Given the description of an element on the screen output the (x, y) to click on. 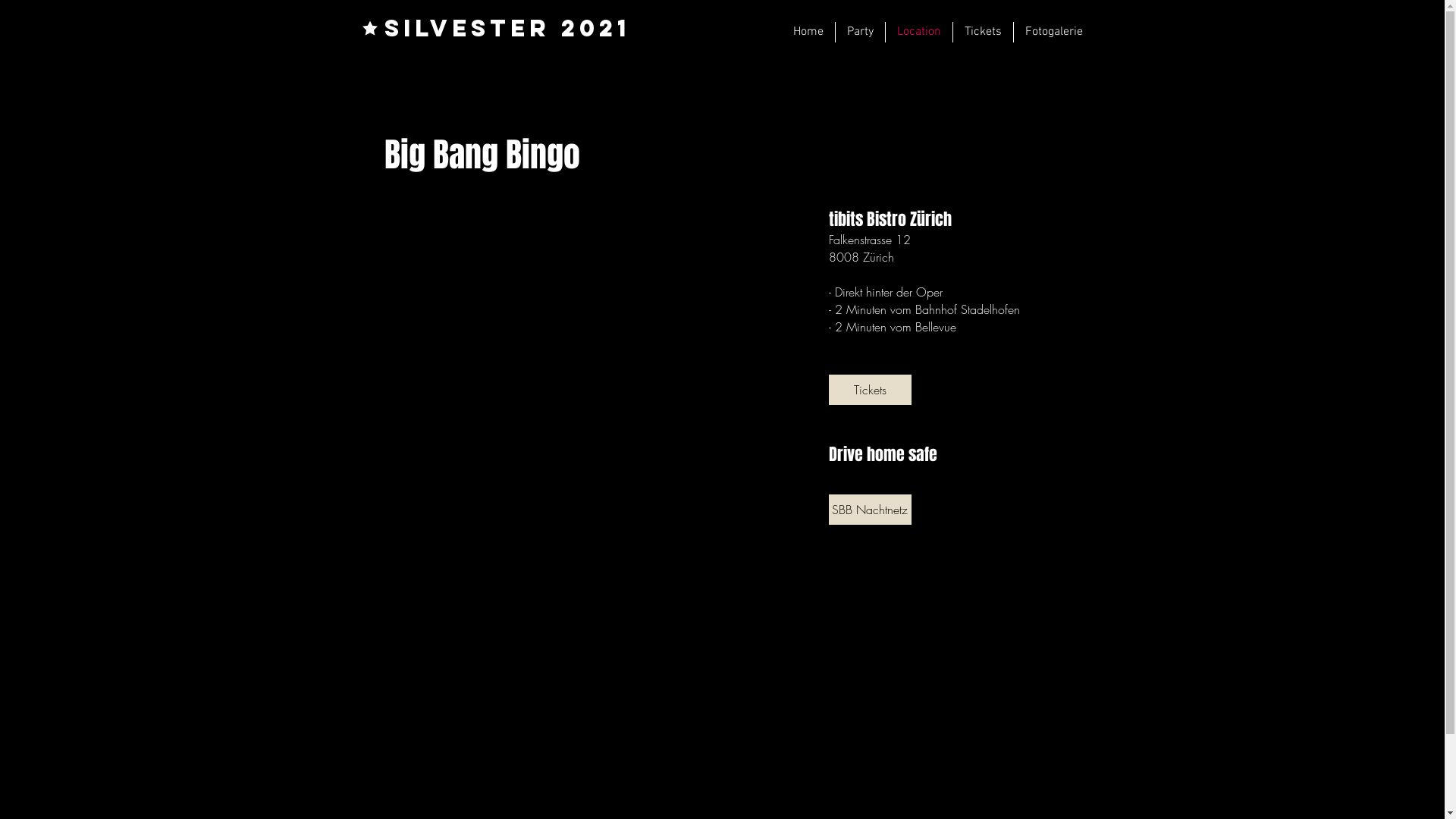
Tickets Element type: text (869, 389)
Fotogalerie Element type: text (1053, 31)
SBB Nachtnetz Element type: text (869, 509)
Location Element type: text (918, 31)
Tickets Element type: text (982, 31)
Google Maps Element type: hover (598, 411)
Party Element type: text (859, 31)
silvester 2021 Element type: text (506, 27)
Home Element type: text (807, 31)
